Given the description of an element on the screen output the (x, y) to click on. 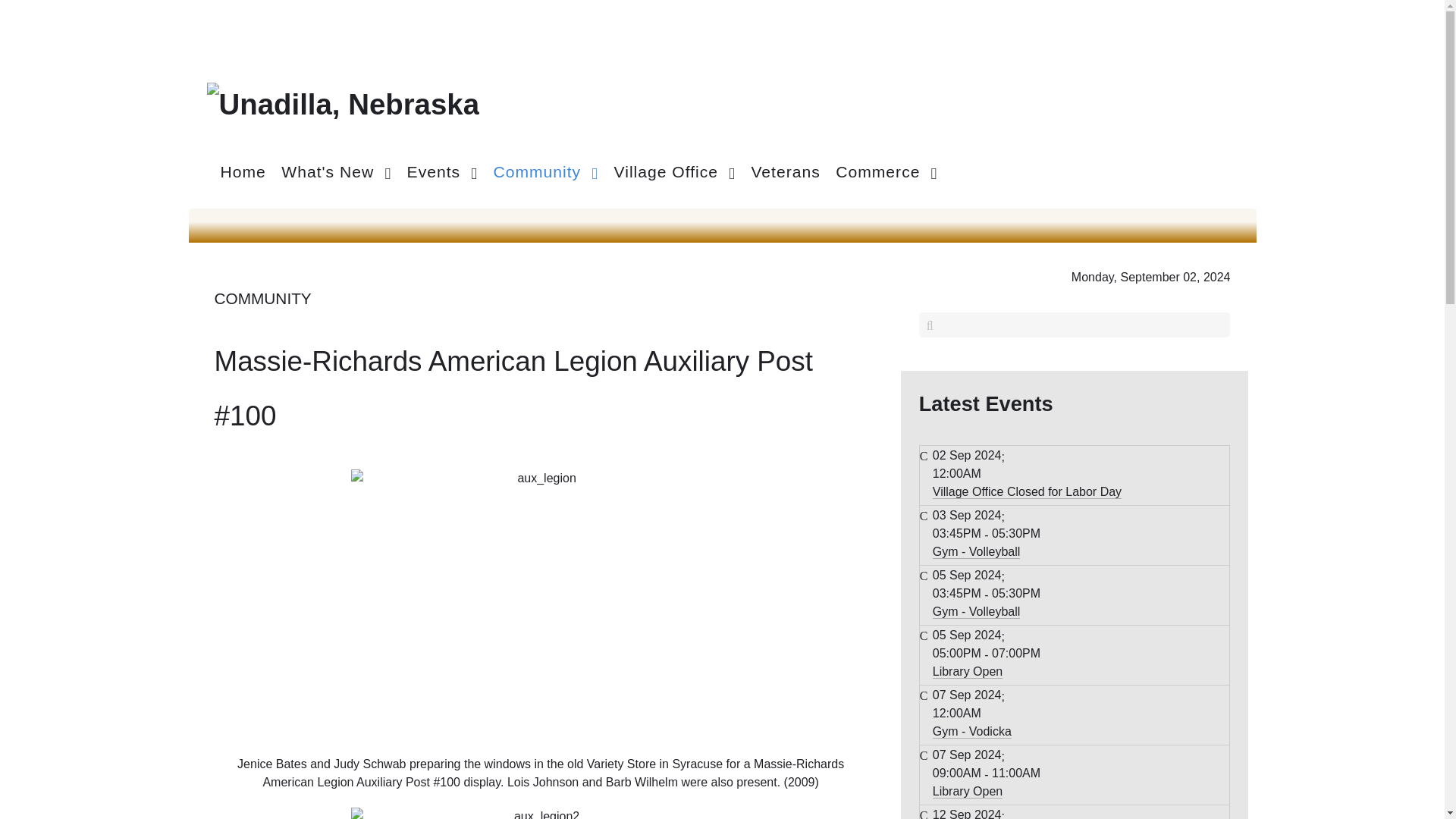
Community (545, 170)
Veterans (784, 170)
What's New (336, 170)
Unadilla, Nebraska (342, 101)
Village Office Closed for Labor Day (1027, 491)
Home (242, 170)
Village Office (674, 170)
Commerce (886, 170)
Events (442, 170)
